Given the description of an element on the screen output the (x, y) to click on. 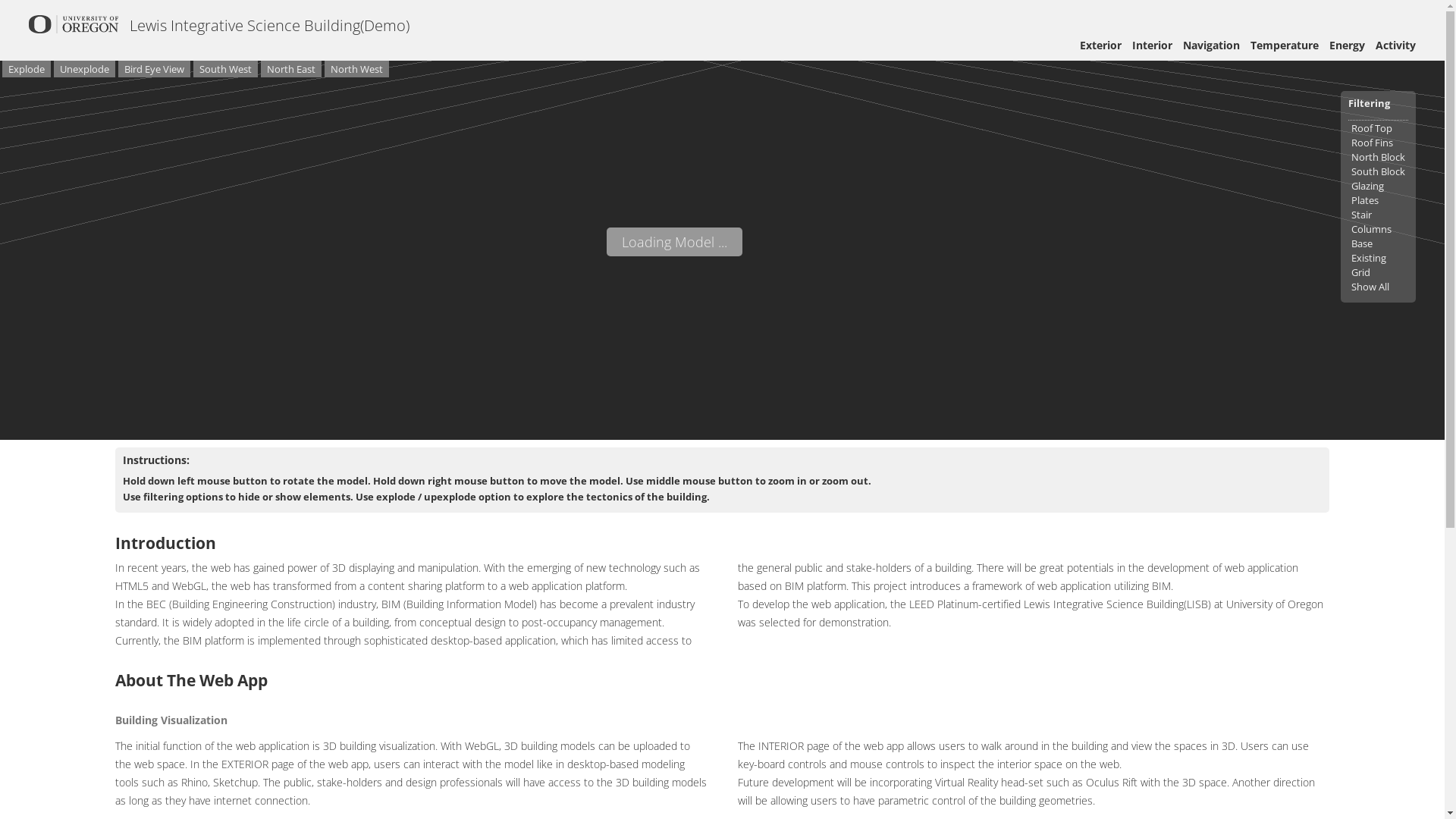
Temperature Element type: text (1284, 44)
Lewis Integrative Science Building(Demo) Element type: text (269, 25)
Interior Element type: text (1152, 44)
Activity Element type: text (1395, 44)
Explode Element type: text (26, 68)
Unexplode Element type: text (84, 68)
Bird Eye View Element type: text (154, 68)
Exterior Element type: text (1100, 44)
Navigation Element type: text (1211, 44)
North West Element type: text (356, 68)
North East Element type: text (290, 68)
South West Element type: text (225, 68)
Energy Element type: text (1347, 44)
